Given the description of an element on the screen output the (x, y) to click on. 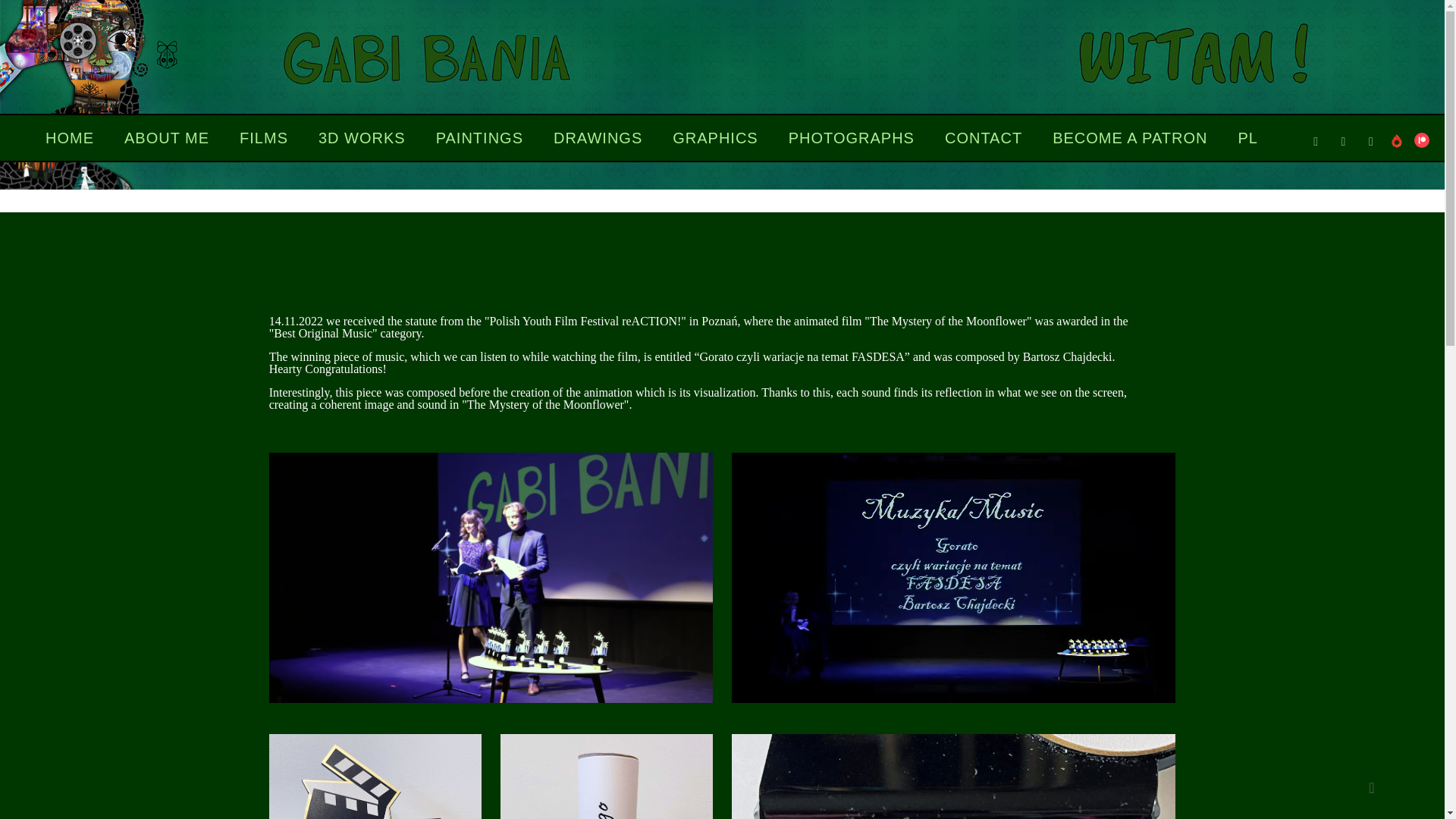
Instagram (1370, 141)
DRAWINGS (598, 137)
Patronite (1396, 141)
PL (1247, 137)
HOME (69, 137)
CONTACT (983, 137)
Facebook (1343, 141)
Gabi Bania (722, 33)
3D WORKS (361, 137)
ABOUT ME (166, 137)
